Given the description of an element on the screen output the (x, y) to click on. 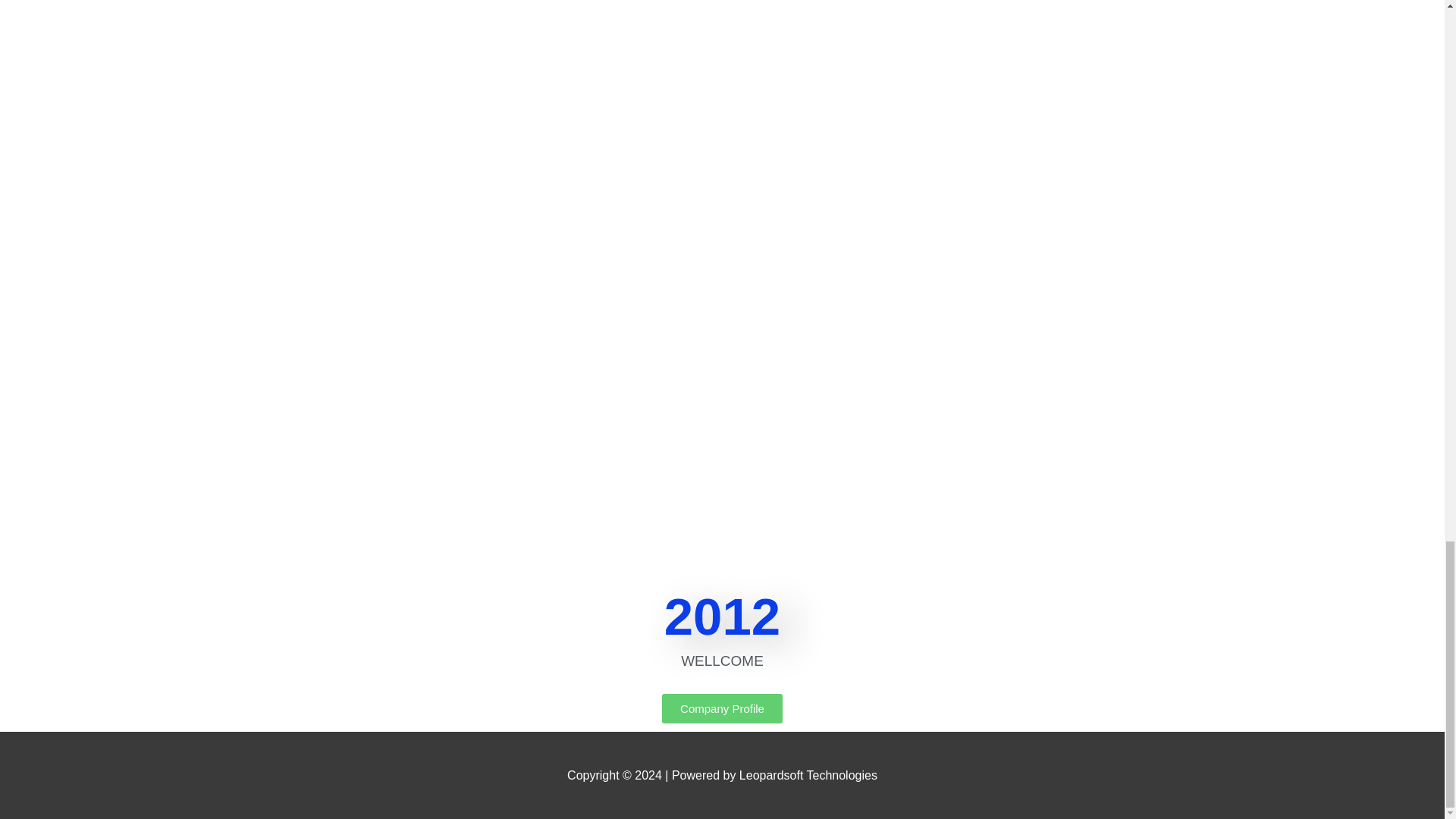
Company Profile (722, 708)
